Given the description of an element on the screen output the (x, y) to click on. 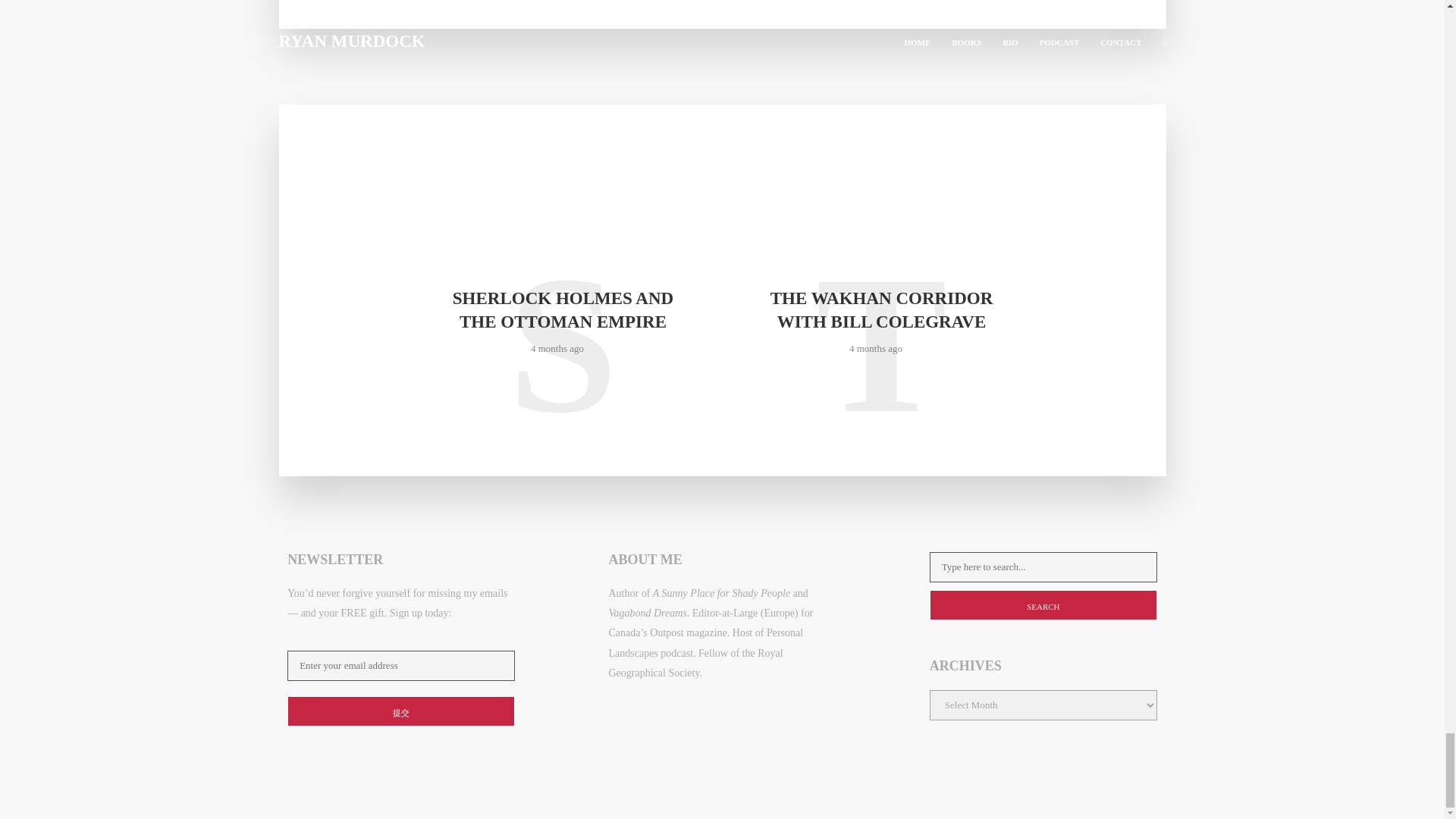
SHERLOCK HOLMES AND THE OTTOMAN EMPIRE (562, 309)
SEARCH (1043, 604)
THE WAKHAN CORRIDOR WITH BILL COLEGRAVE (880, 309)
